Given the description of an element on the screen output the (x, y) to click on. 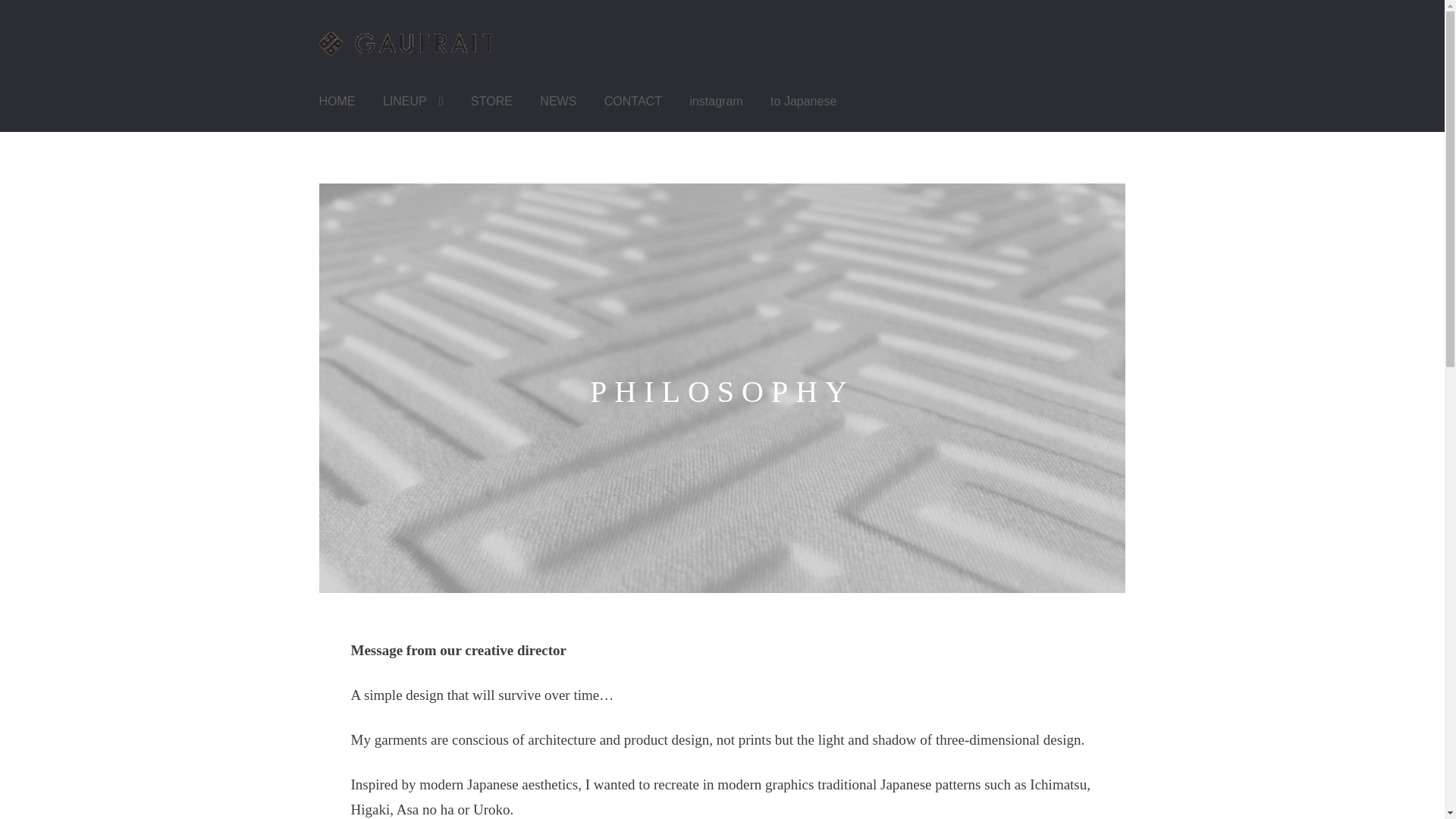
STORE (491, 101)
instagram (715, 101)
HOME (337, 101)
LINEUP (413, 101)
CONTACT (633, 101)
NEWS (557, 101)
to Japanese (803, 101)
